Given the description of an element on the screen output the (x, y) to click on. 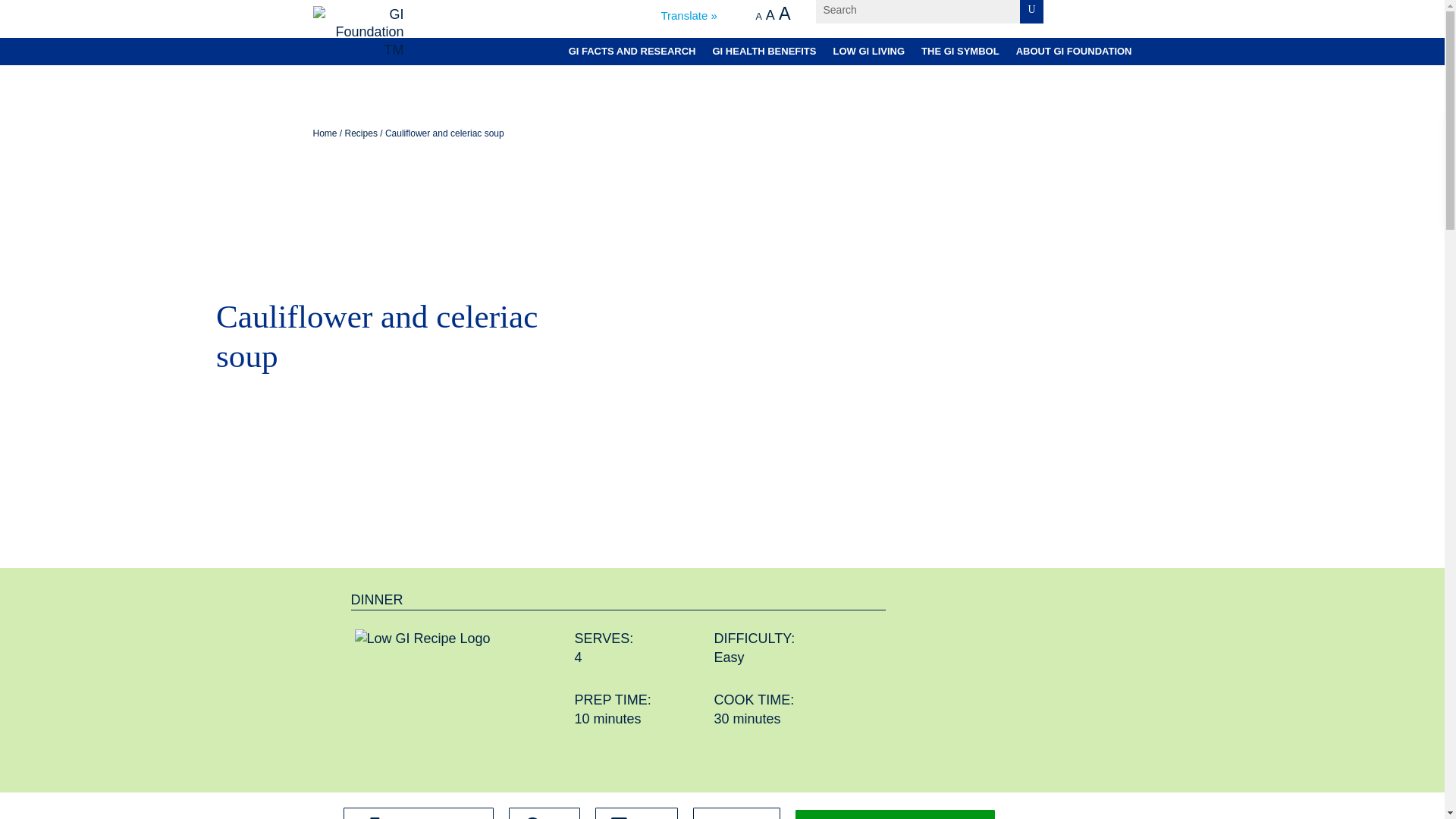
U (1031, 11)
U (1031, 11)
GI FACTS AND RESEARCH (632, 53)
LOW GI LIVING (868, 53)
U (1031, 11)
U (1031, 11)
U (1031, 11)
GI HEALTH BENEFITS (763, 53)
THE GI SYMBOL (959, 53)
